Given the description of an element on the screen output the (x, y) to click on. 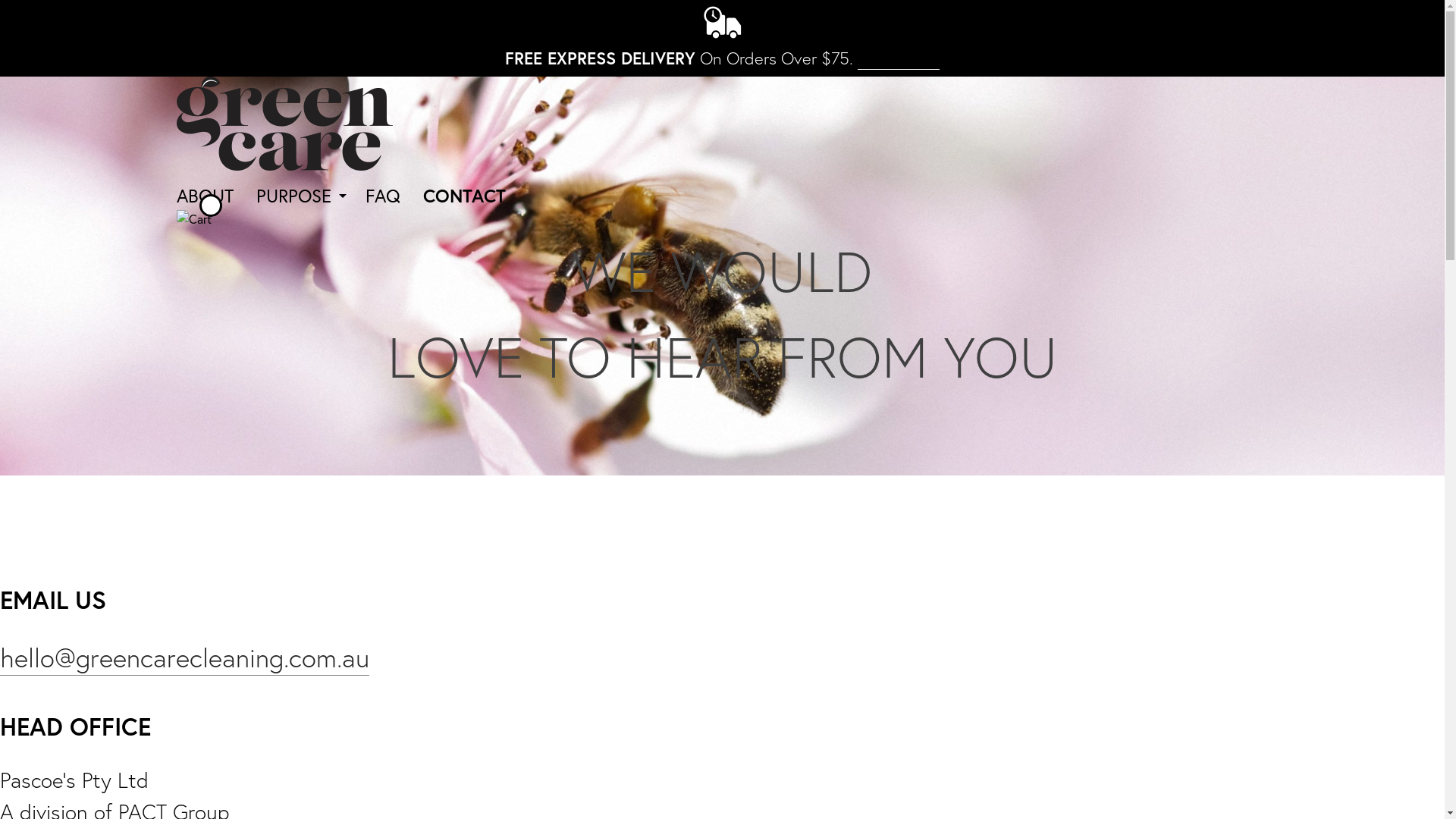
FAQ Element type: text (382, 196)
hello@greencarecleaning.com.au Element type: text (184, 657)
CONTACT Element type: text (464, 196)
View Cart Element type: hover (192, 218)
PURPOSE Element type: text (293, 196)
See Details Element type: text (898, 58)
ABOUT Element type: text (203, 196)
